Given the description of an element on the screen output the (x, y) to click on. 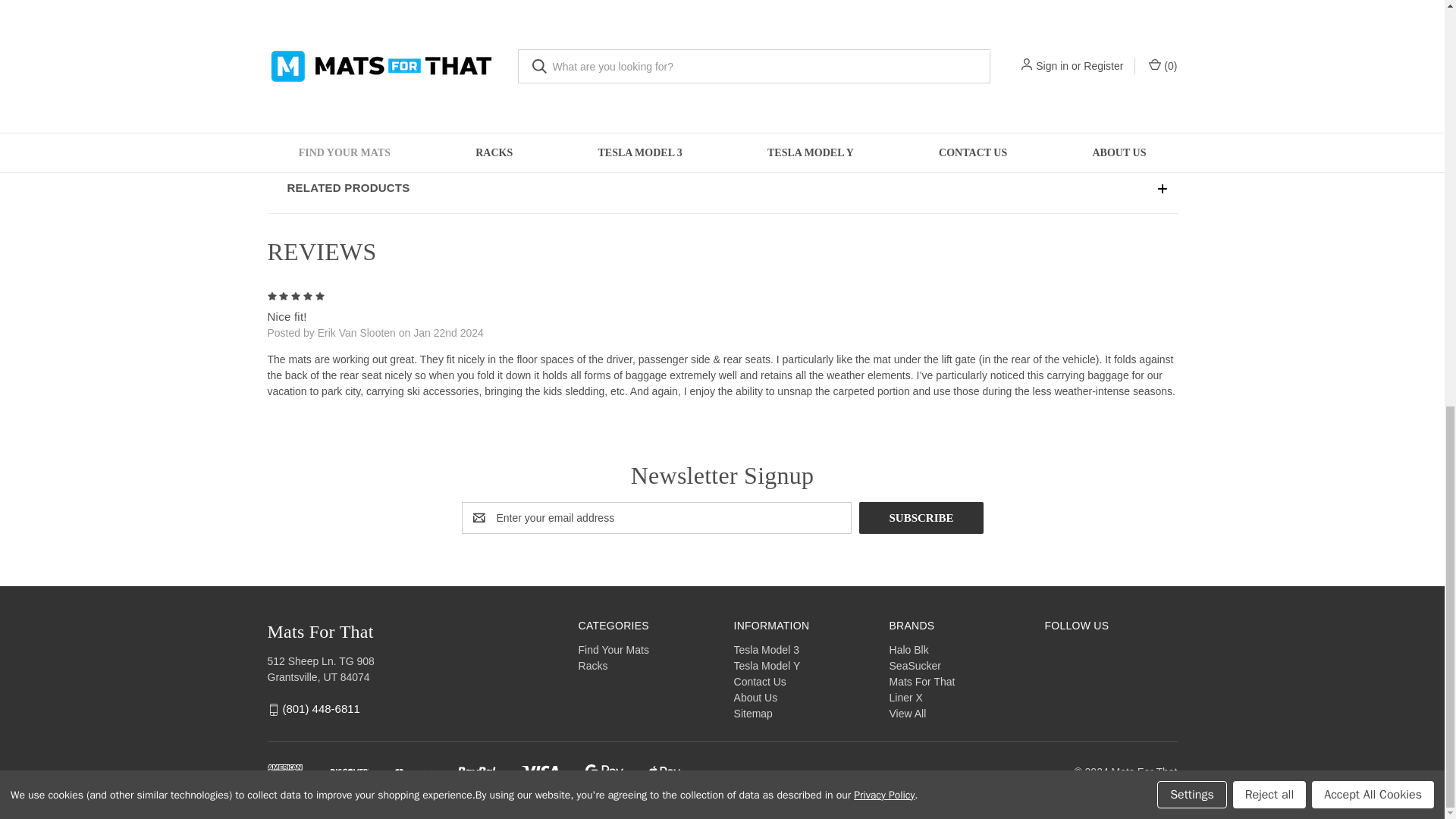
Subscribe (920, 517)
